Given the description of an element on the screen output the (x, y) to click on. 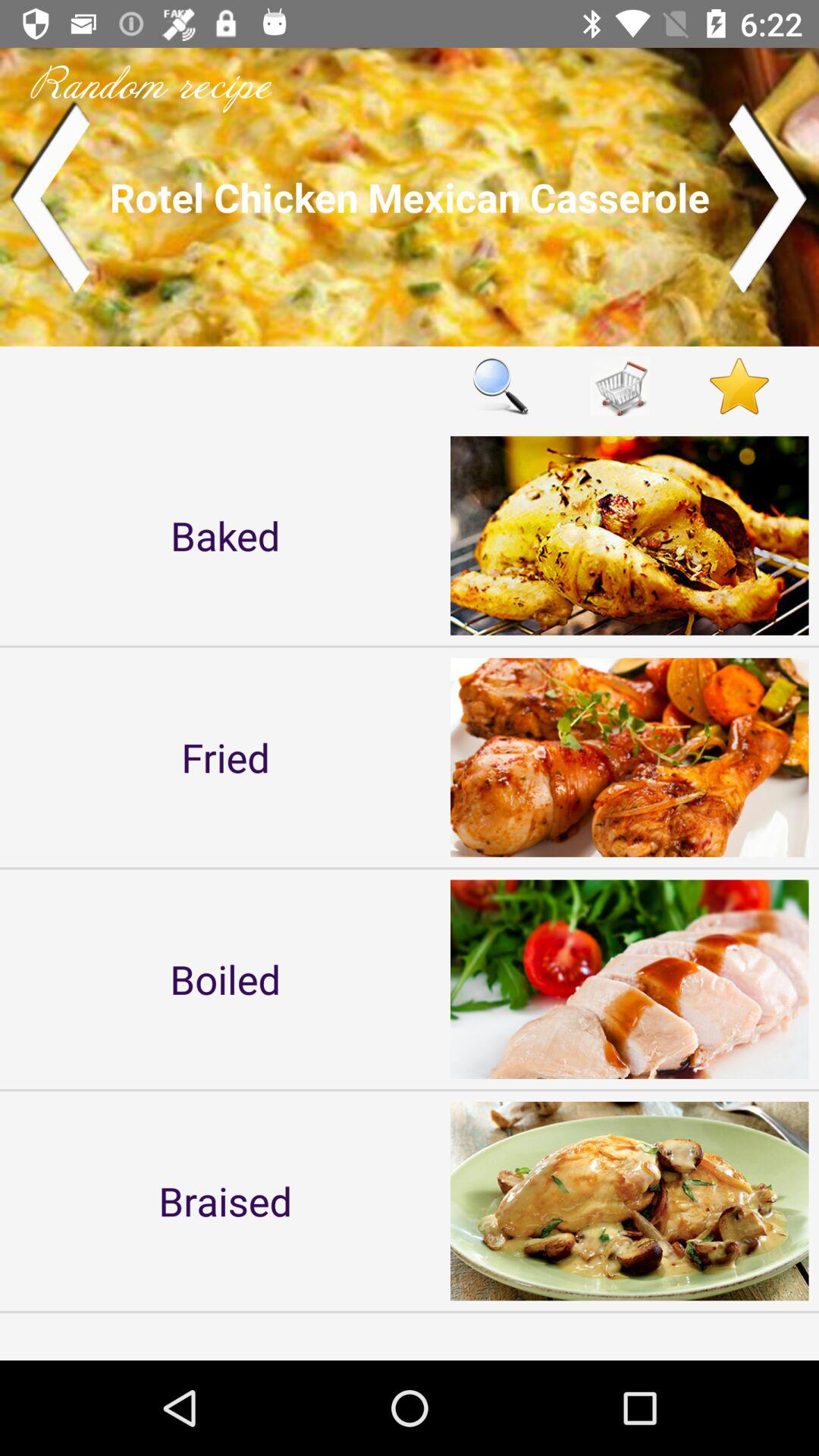
press icon to the right of the baked item (500, 385)
